Given the description of an element on the screen output the (x, y) to click on. 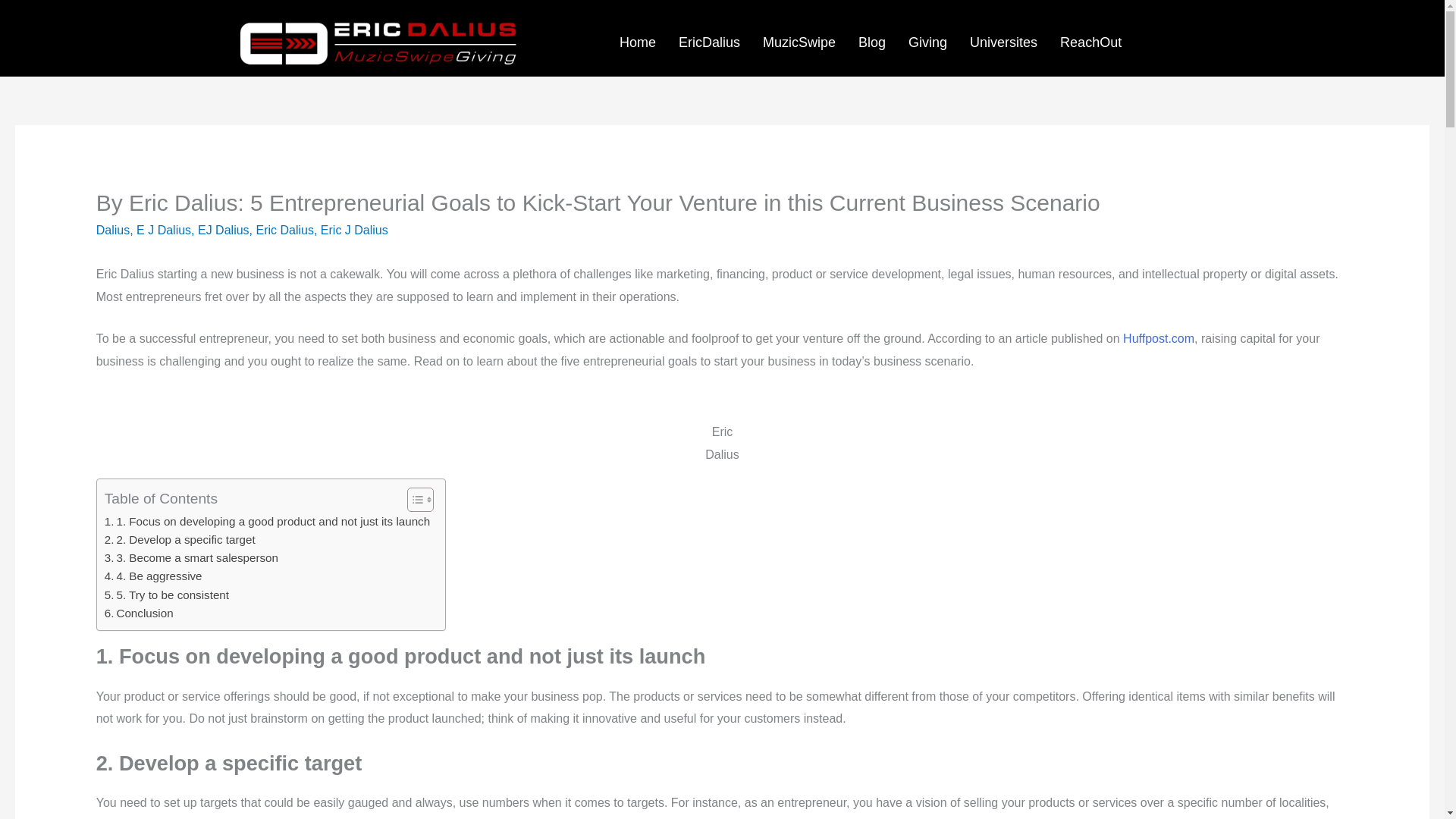
Blog (871, 42)
Huffpost.com (1157, 338)
4. Be aggressive (153, 576)
Universites (1003, 42)
Conclusion (138, 613)
EricDalius (708, 42)
2. Develop a specific target (180, 539)
5. Try to be consistent (166, 595)
EJ Dalius (223, 229)
